Given the description of an element on the screen output the (x, y) to click on. 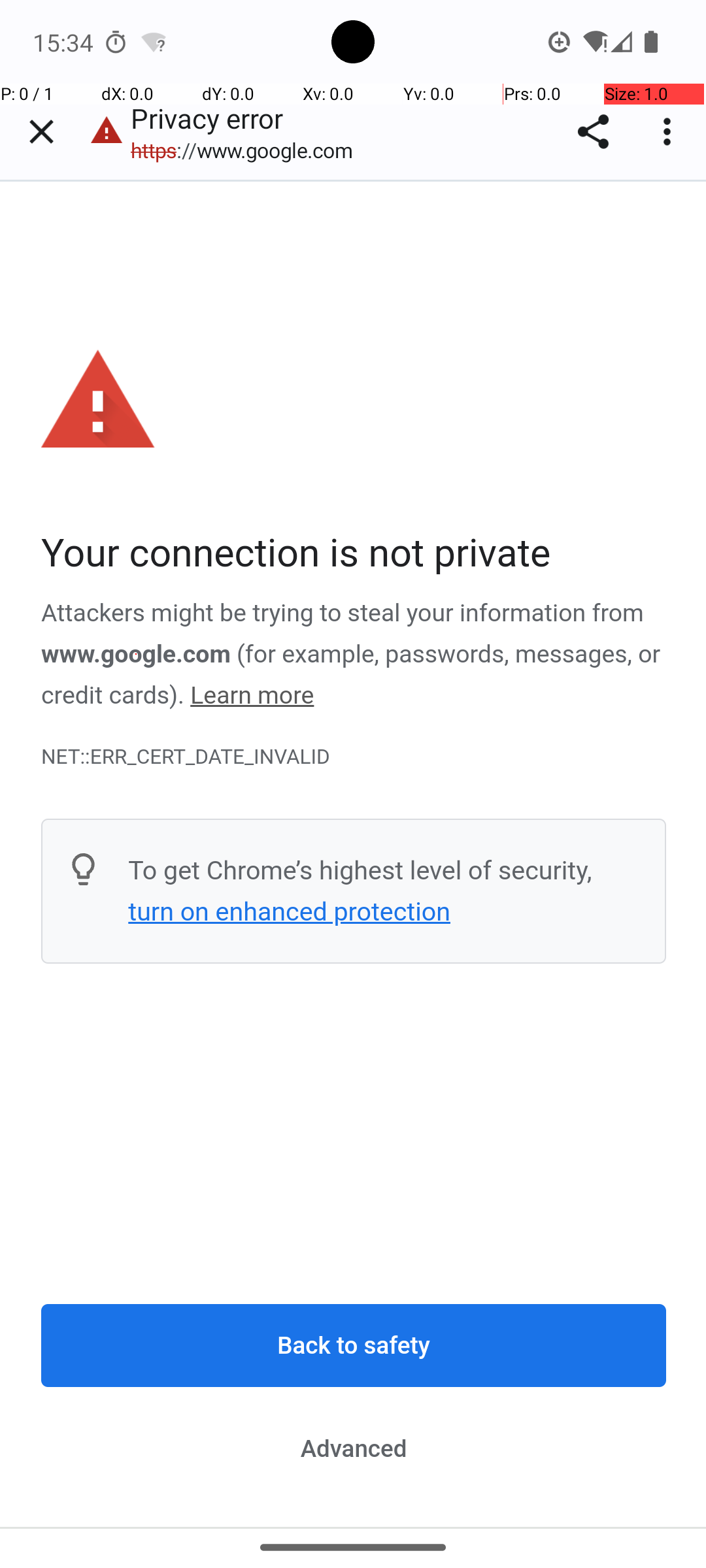
https://www.google.com Element type: android.widget.TextView (248, 149)
www.google.com Element type: android.widget.TextView (136, 653)
